Given the description of an element on the screen output the (x, y) to click on. 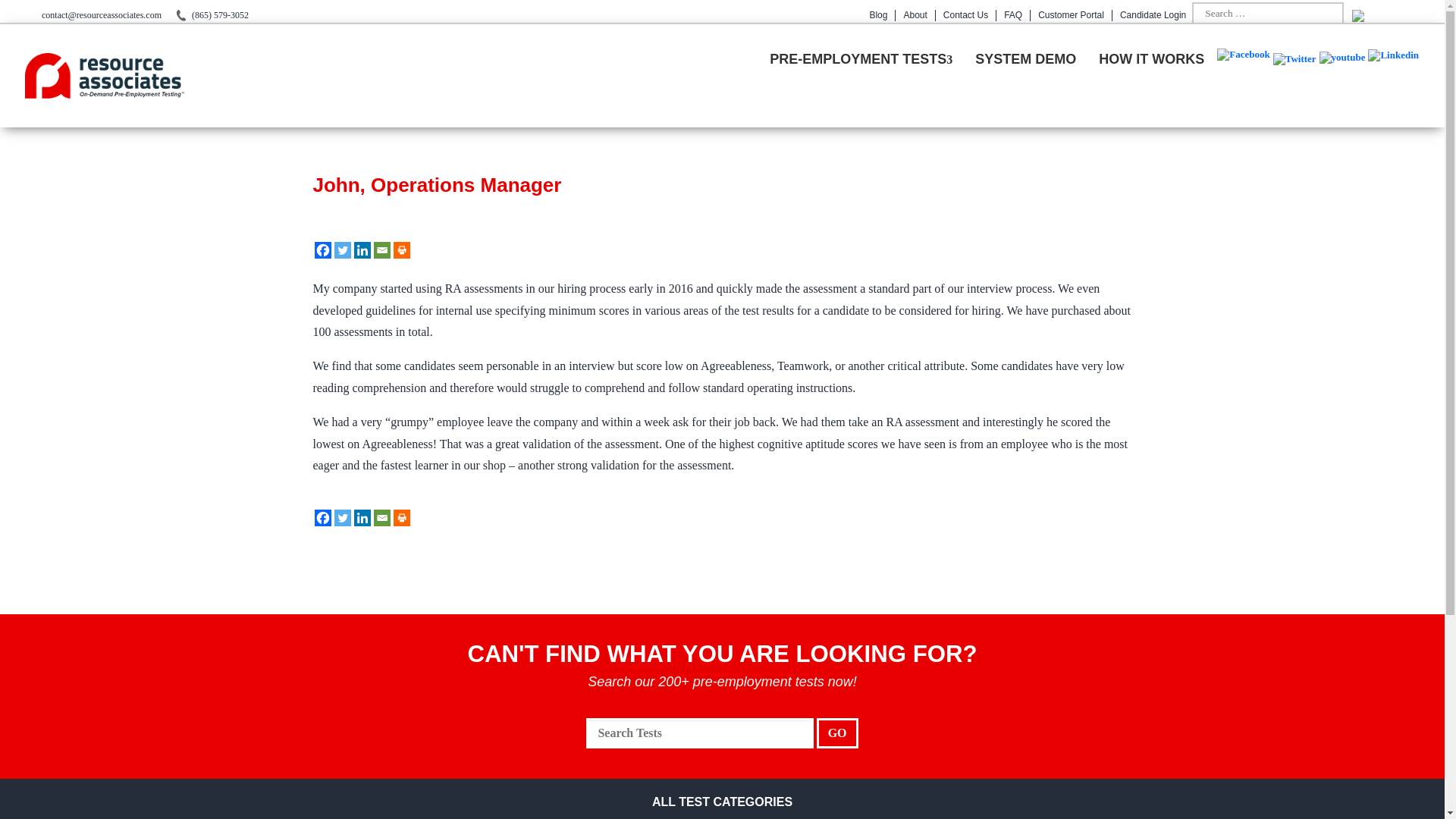
Candidate Login (1152, 15)
About (914, 15)
Search for: (1267, 13)
View Cart or Checkout (1387, 15)
Facebook (322, 249)
PRE-EMPLOYMENT TESTS (860, 59)
Contact Us (965, 15)
Facebook (1243, 74)
Linkedin (1393, 74)
Blog (877, 15)
